Given the description of an element on the screen output the (x, y) to click on. 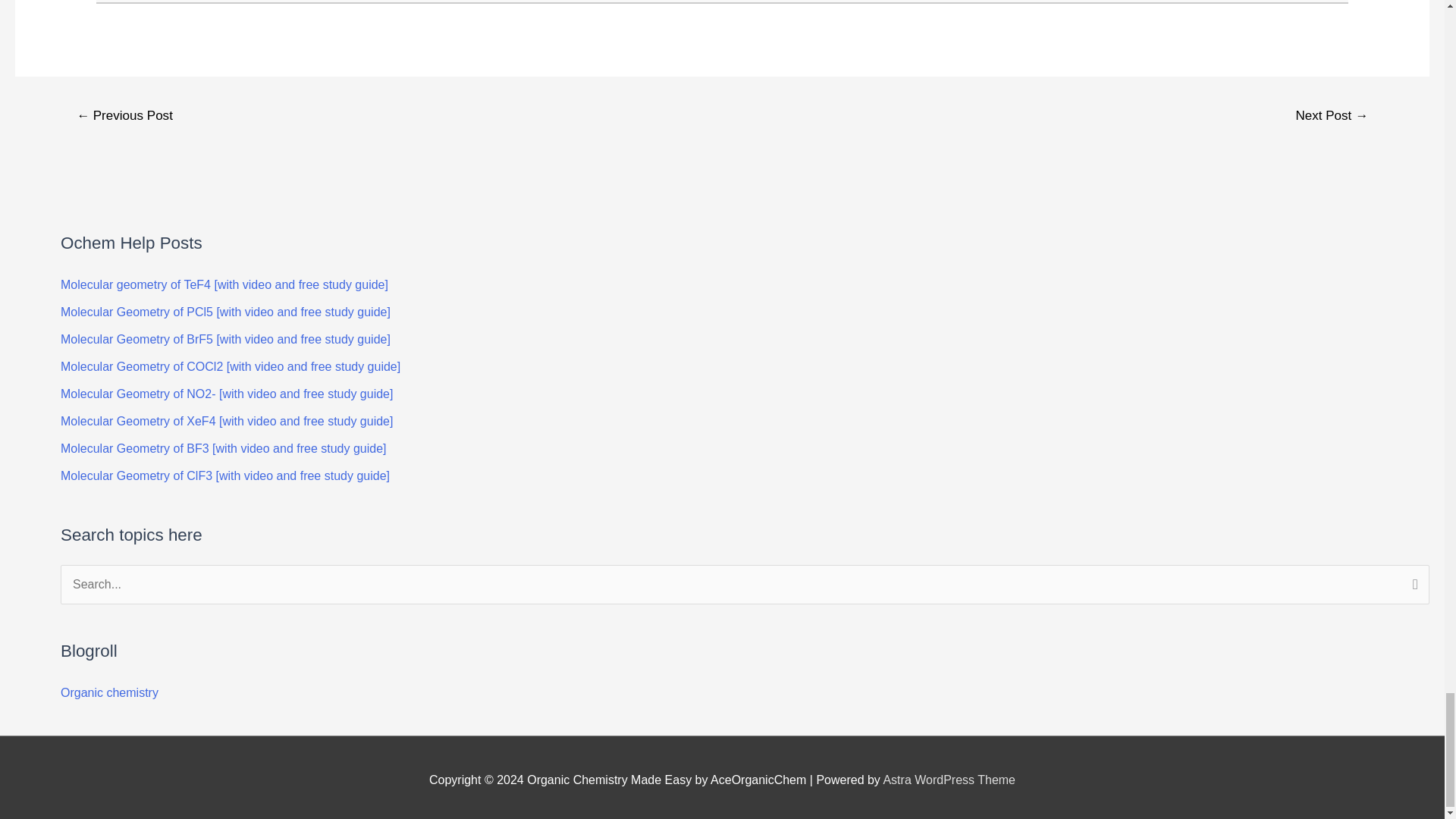
Naming Alkanes: The Complete Guide (124, 117)
Search (1411, 586)
Search (1411, 586)
Organic chemistry help for all students  (109, 692)
